Given the description of an element on the screen output the (x, y) to click on. 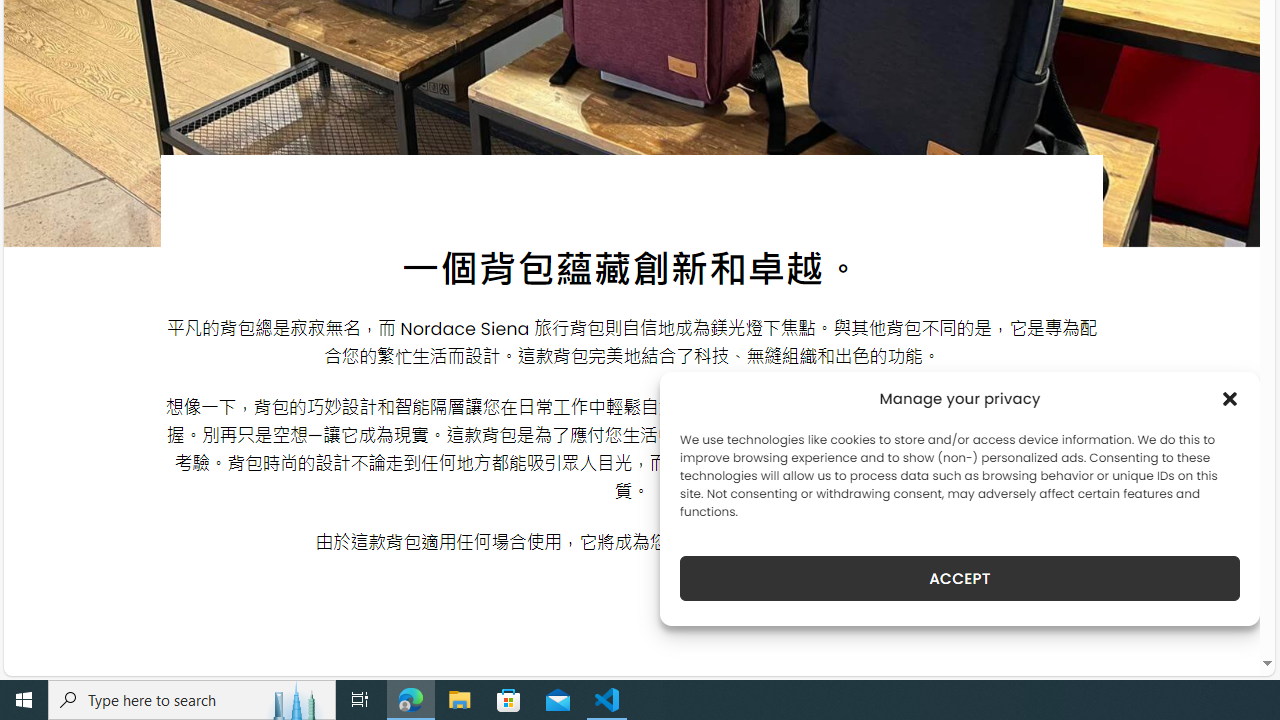
Class: cmplz-close (1229, 398)
ACCEPT (959, 578)
